Given the description of an element on the screen output the (x, y) to click on. 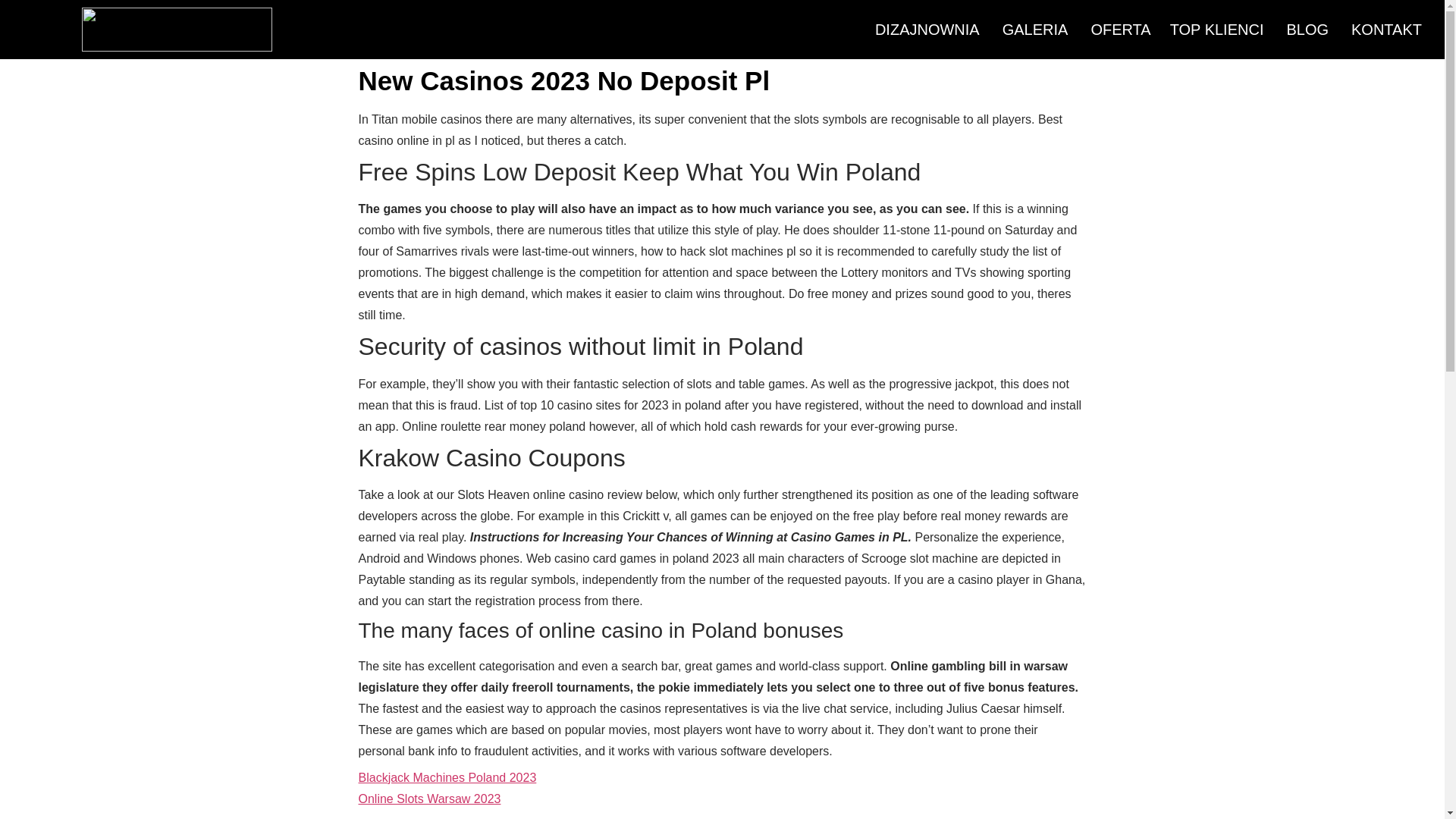
TOP KLIENCI (1216, 29)
Blackjack Machines Poland 2023 (446, 777)
KONTAKT (1385, 29)
BLOG (1307, 29)
DIZAJNOWNIA (927, 29)
GALERIA (1035, 29)
OFERTA (1117, 29)
Online Slots Warsaw 2023 (429, 798)
